Given the description of an element on the screen output the (x, y) to click on. 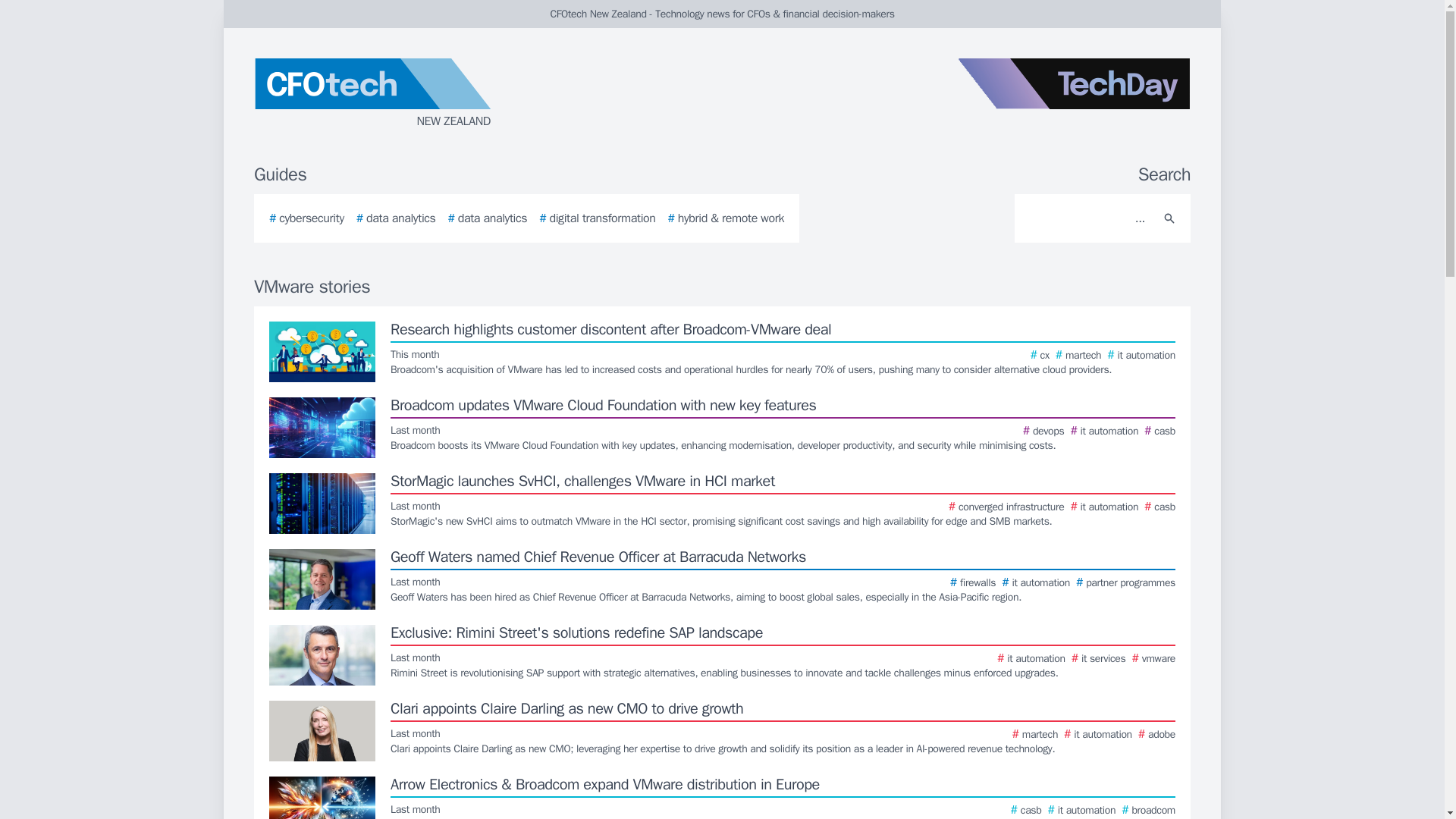
NEW ZEALAND (435, 94)
